Given the description of an element on the screen output the (x, y) to click on. 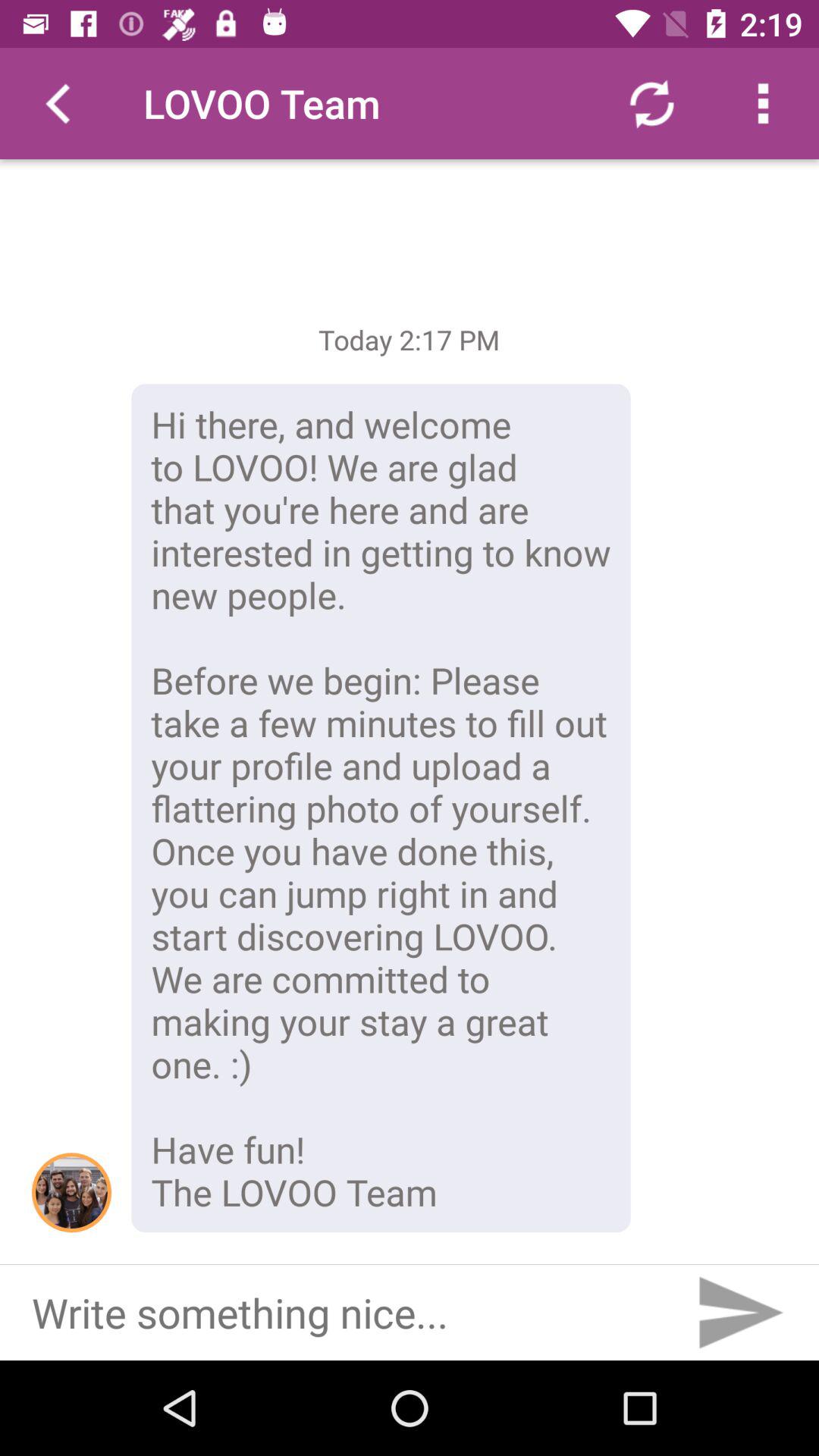
toggle to send (739, 1312)
